Given the description of an element on the screen output the (x, y) to click on. 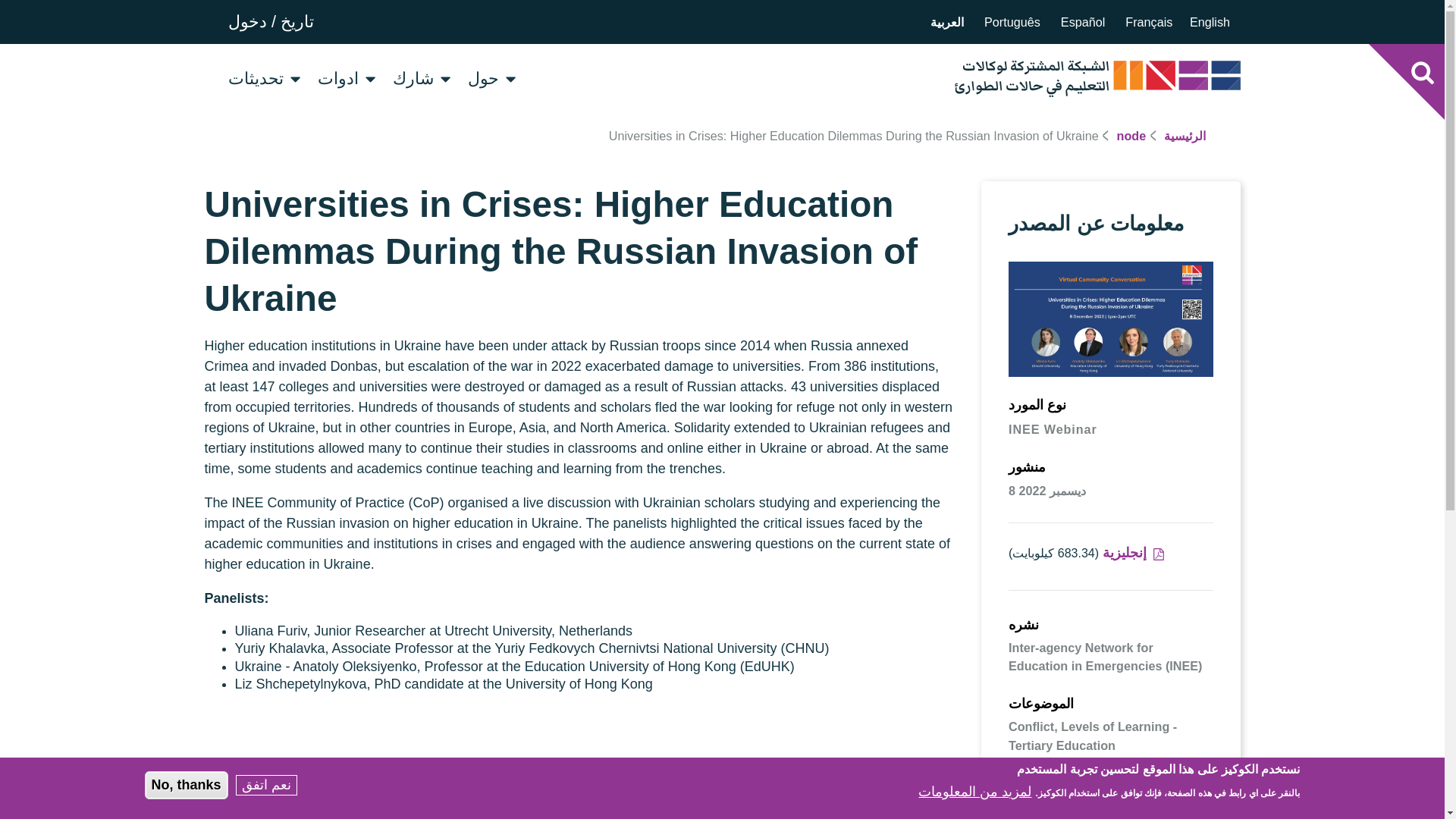
English (1209, 21)
INEE (1096, 78)
Search (1422, 71)
